Given the description of an element on the screen output the (x, y) to click on. 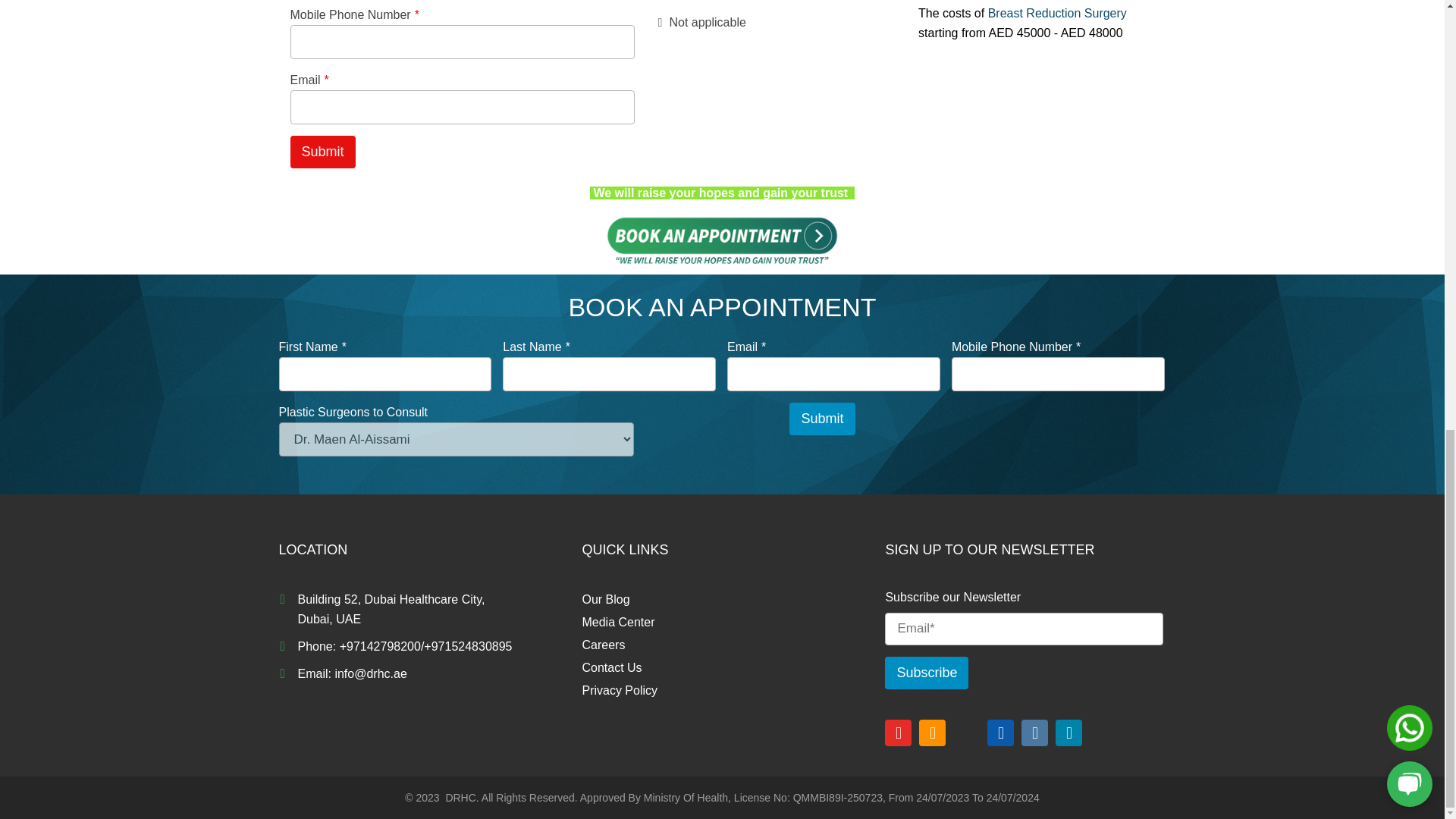
Submit (821, 418)
Subscribe (926, 672)
Submit (322, 151)
